Given the description of an element on the screen output the (x, y) to click on. 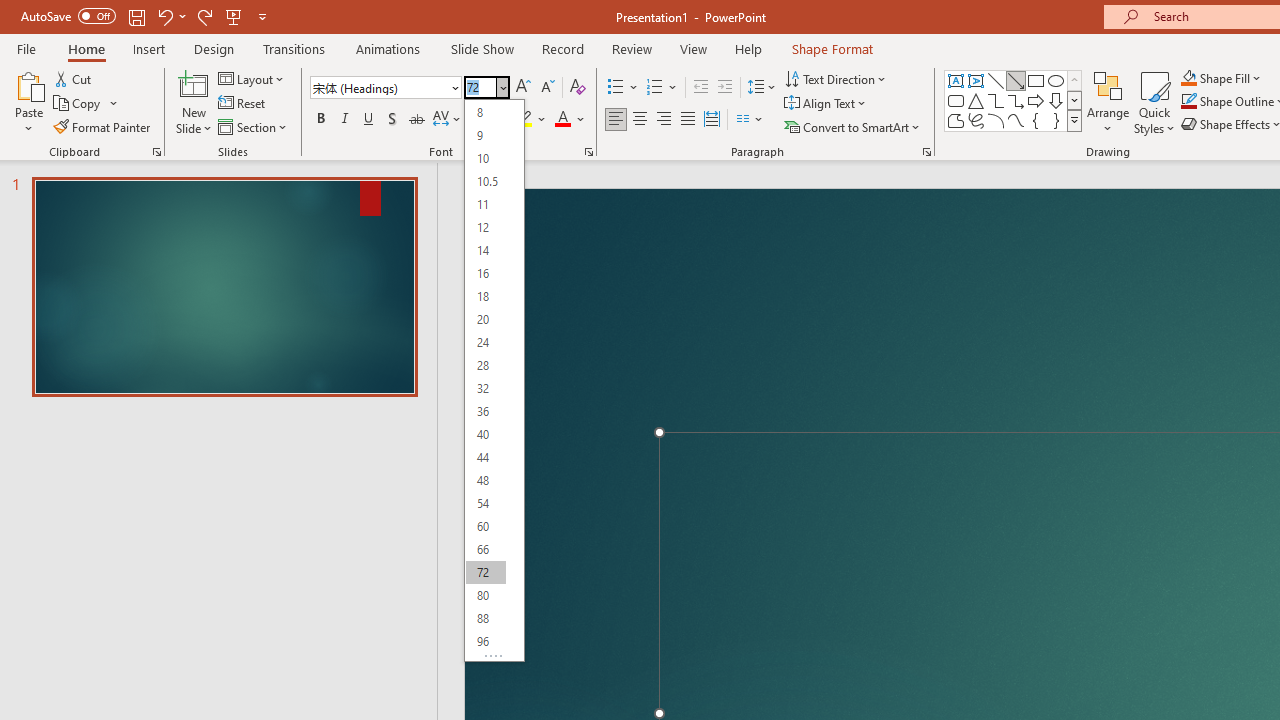
66 (485, 548)
16 (485, 273)
